Given the description of an element on the screen output the (x, y) to click on. 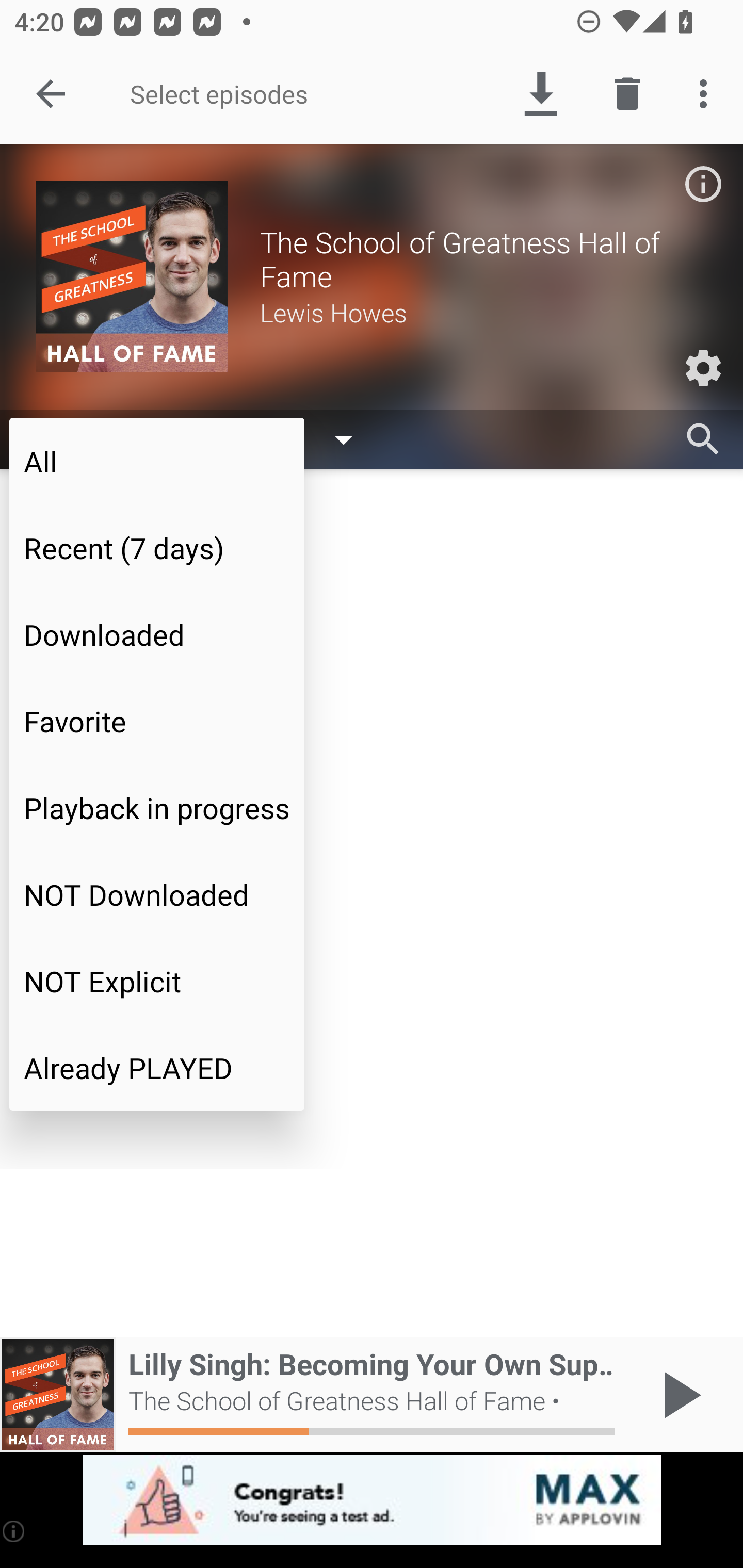
All (156, 460)
Recent (7 days) (156, 547)
Downloaded (156, 634)
Favorite (156, 721)
Playback in progress (156, 808)
NOT Downloaded (156, 894)
NOT Explicit (156, 980)
Already PLAYED (156, 1067)
